Given the description of an element on the screen output the (x, y) to click on. 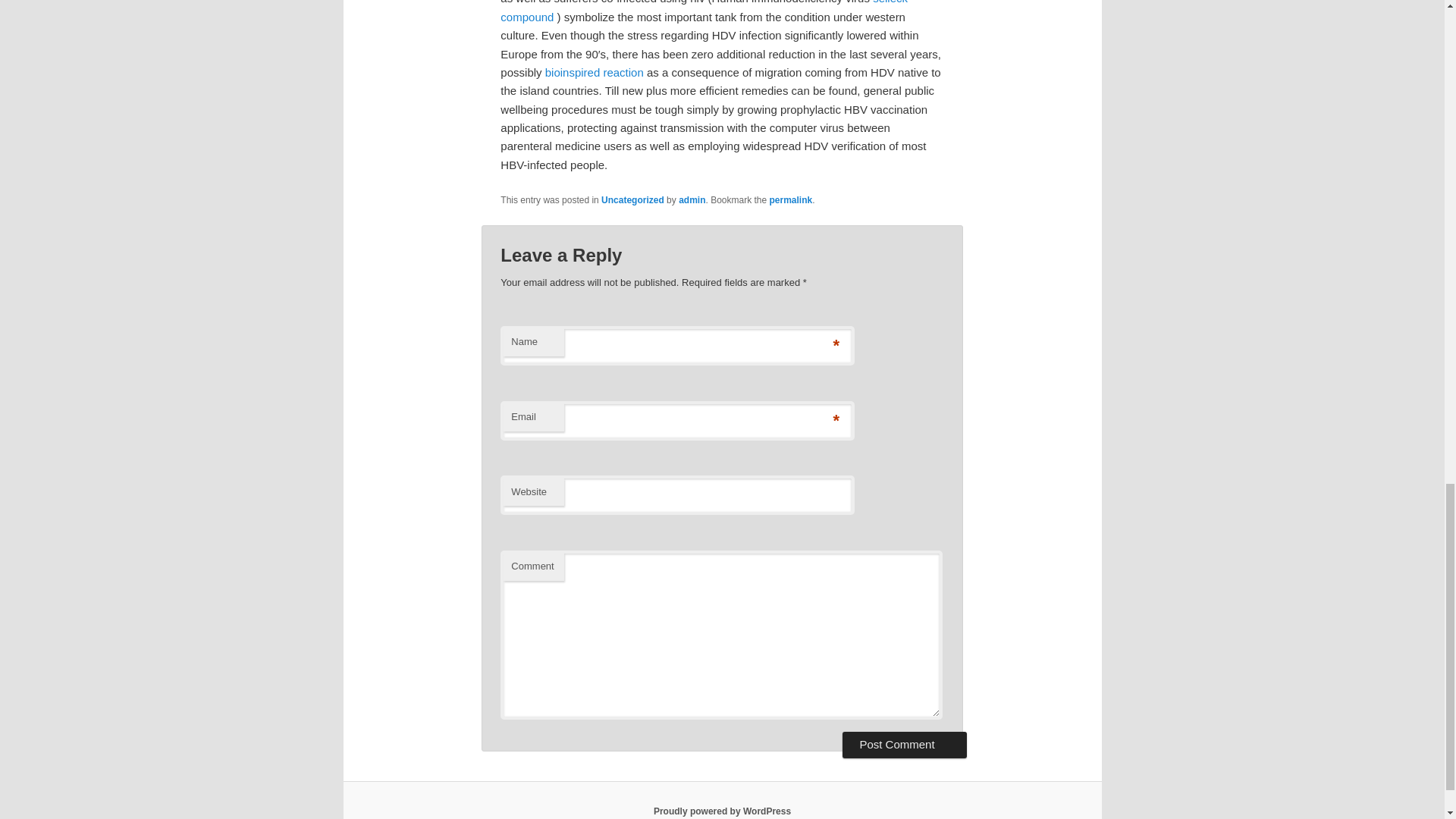
Semantic Personal Publishing Platform (721, 810)
Proudly powered by WordPress (721, 810)
Uncategorized (632, 199)
bioinspired reaction (593, 72)
permalink (791, 199)
Post Comment (904, 744)
admin (691, 199)
Post Comment (904, 744)
View all posts in Uncategorized (632, 199)
selleck compound (703, 11)
